Given the description of an element on the screen output the (x, y) to click on. 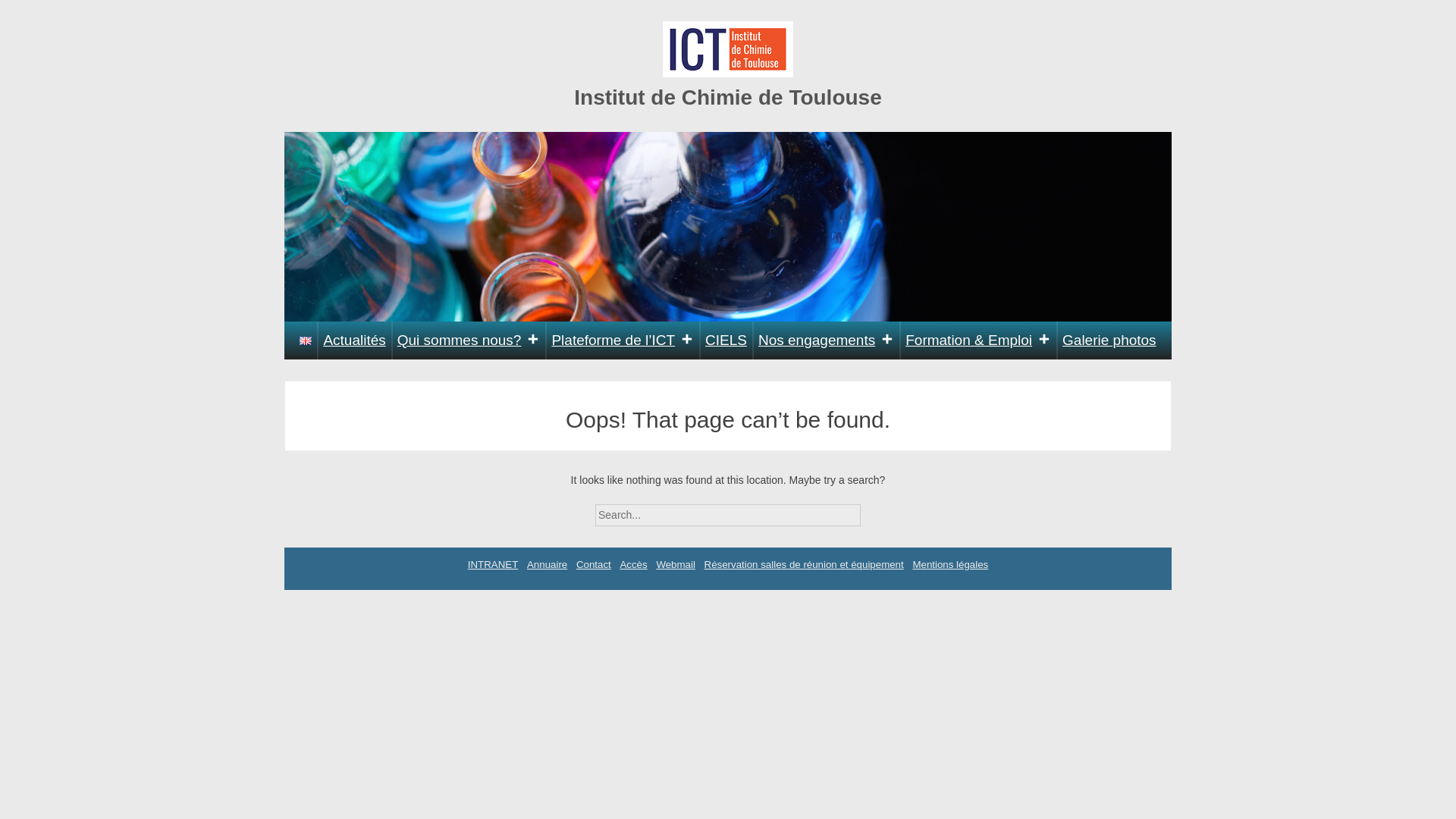
Search (873, 509)
CIELS (726, 340)
Qui sommes nous? (468, 340)
Nos engagements (825, 340)
Institut de Chimie de Toulouse (727, 97)
Search (873, 509)
